Given the description of an element on the screen output the (x, y) to click on. 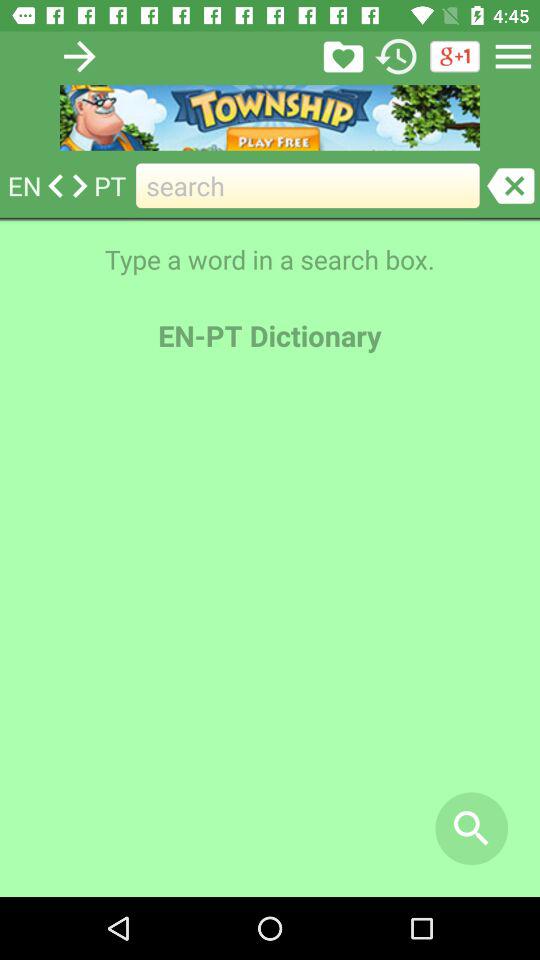
turn on the app below type a word app (471, 828)
